Given the description of an element on the screen output the (x, y) to click on. 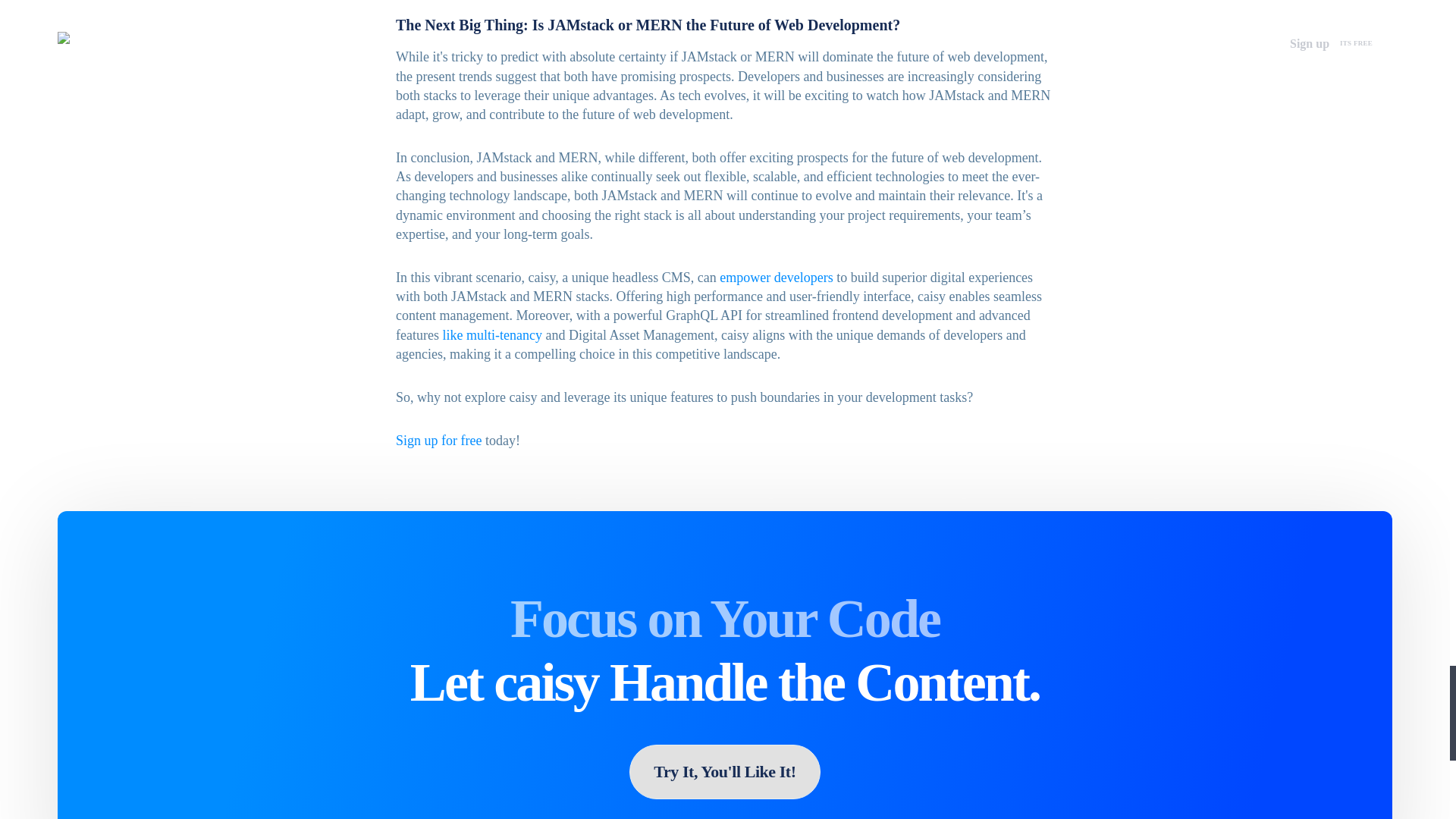
Try It, You'll Like It! (723, 772)
like multi-tenancy (491, 335)
empower developers (775, 277)
Try It, You'll Like It! (723, 771)
Sign up for free (438, 440)
